Given the description of an element on the screen output the (x, y) to click on. 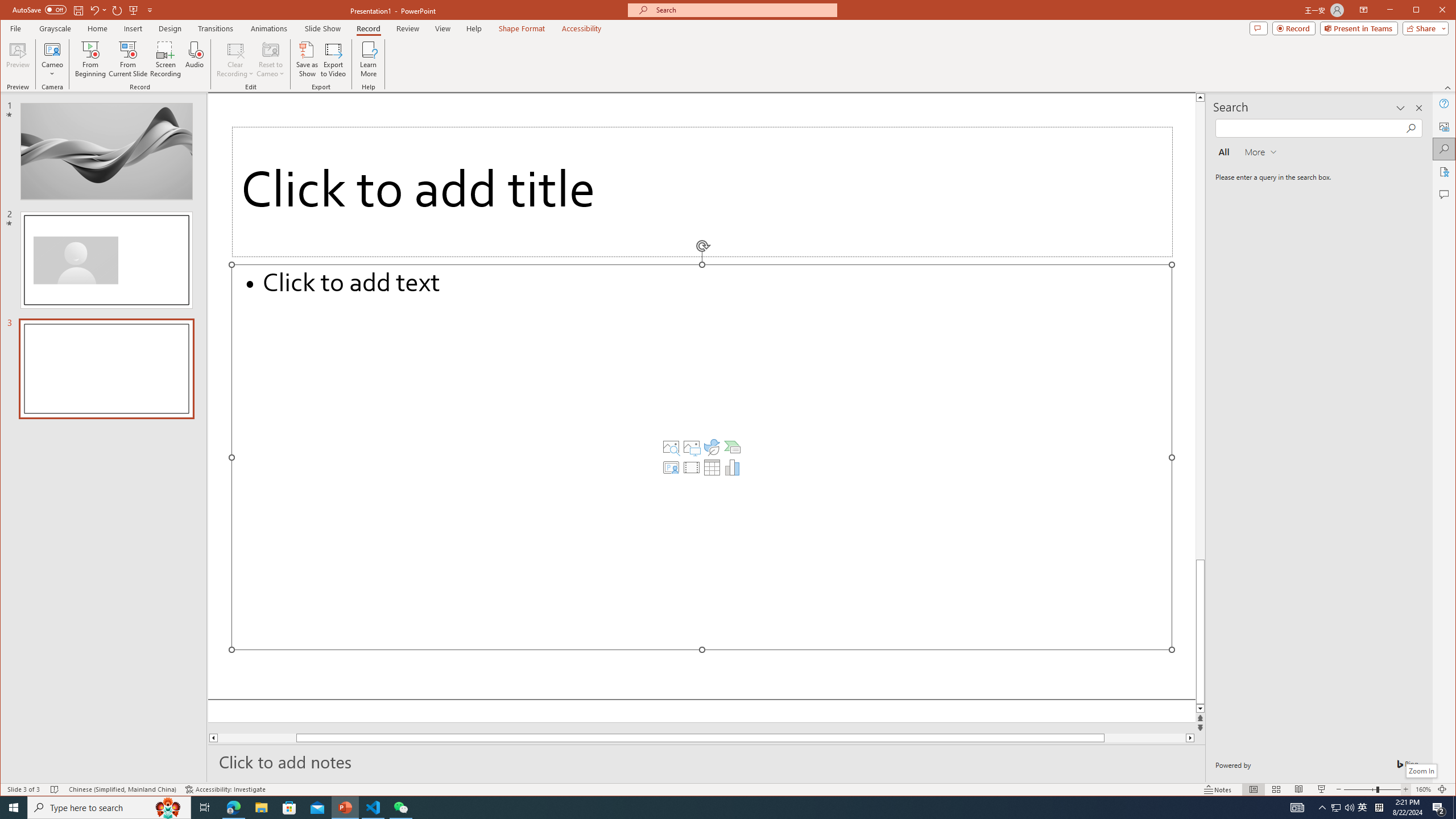
Reset to Cameo (269, 59)
Normal (1253, 789)
Microsoft Edge - 1 running window (233, 807)
AutomationID: 4105 (1297, 807)
Zoom to Fit  (1441, 789)
Close pane (1418, 107)
Spell Check No Errors (55, 789)
From Beginning (133, 9)
File Tab (15, 27)
Export to Video (333, 59)
Insert an Icon (711, 447)
Reading View (1298, 789)
Show desktop (1454, 807)
